Given the description of an element on the screen output the (x, y) to click on. 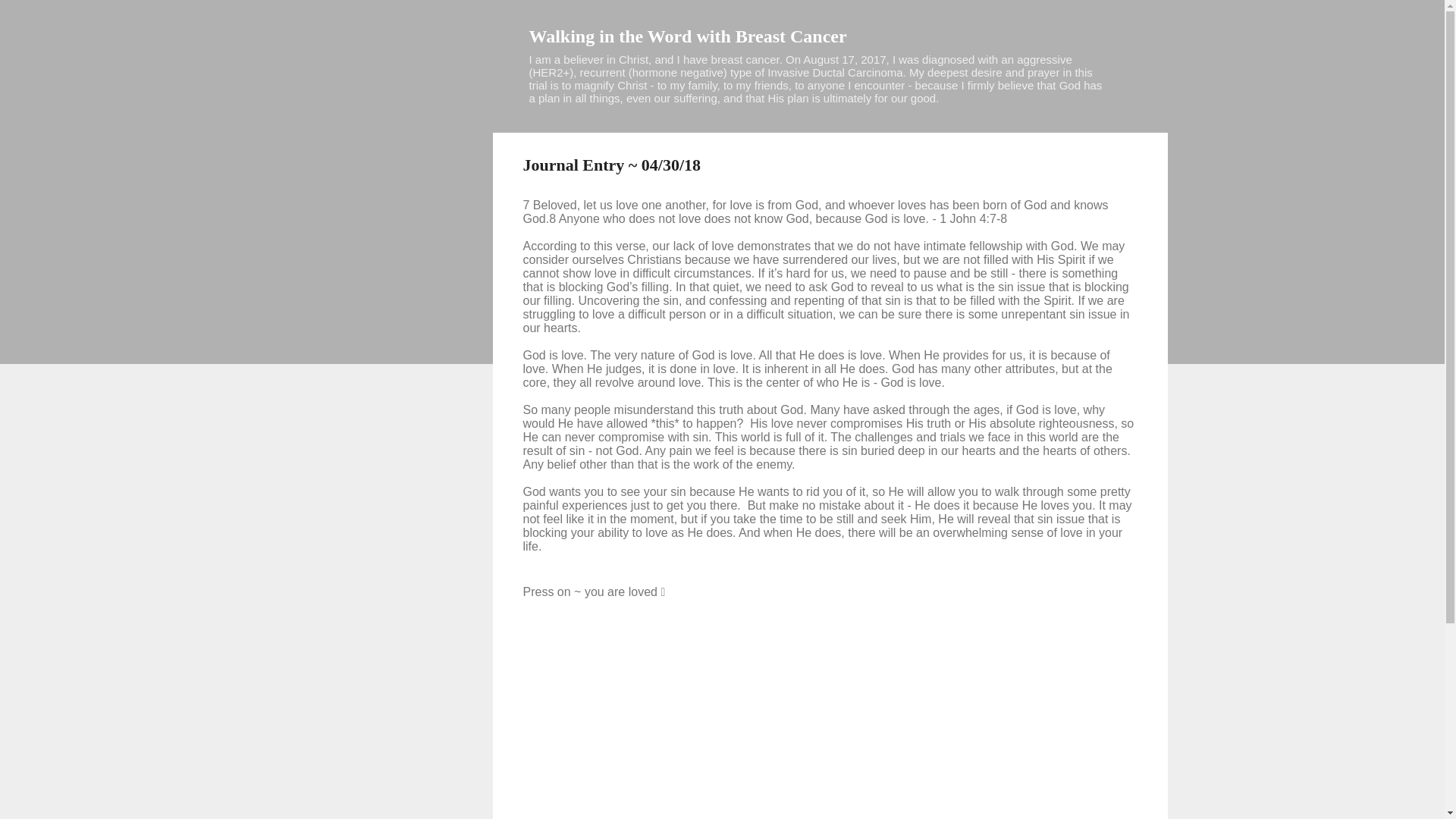
Walking in the Word with Breast Cancer (688, 35)
Email Post (562, 641)
Search (29, 18)
